Given the description of an element on the screen output the (x, y) to click on. 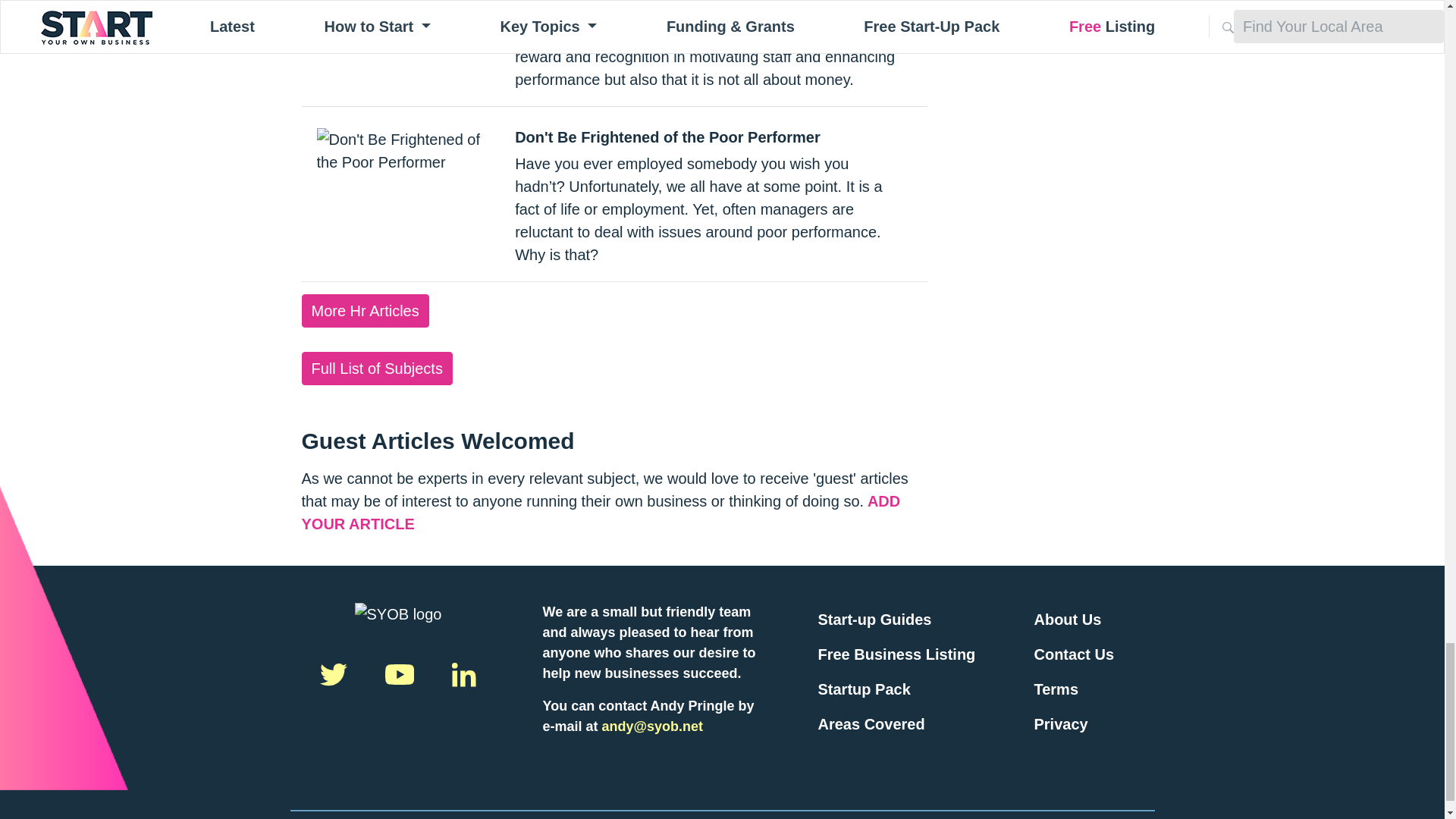
Full List of Subjects (376, 368)
More Hr Articles (365, 310)
ADD YOUR ARTICLE (601, 512)
